Given the description of an element on the screen output the (x, y) to click on. 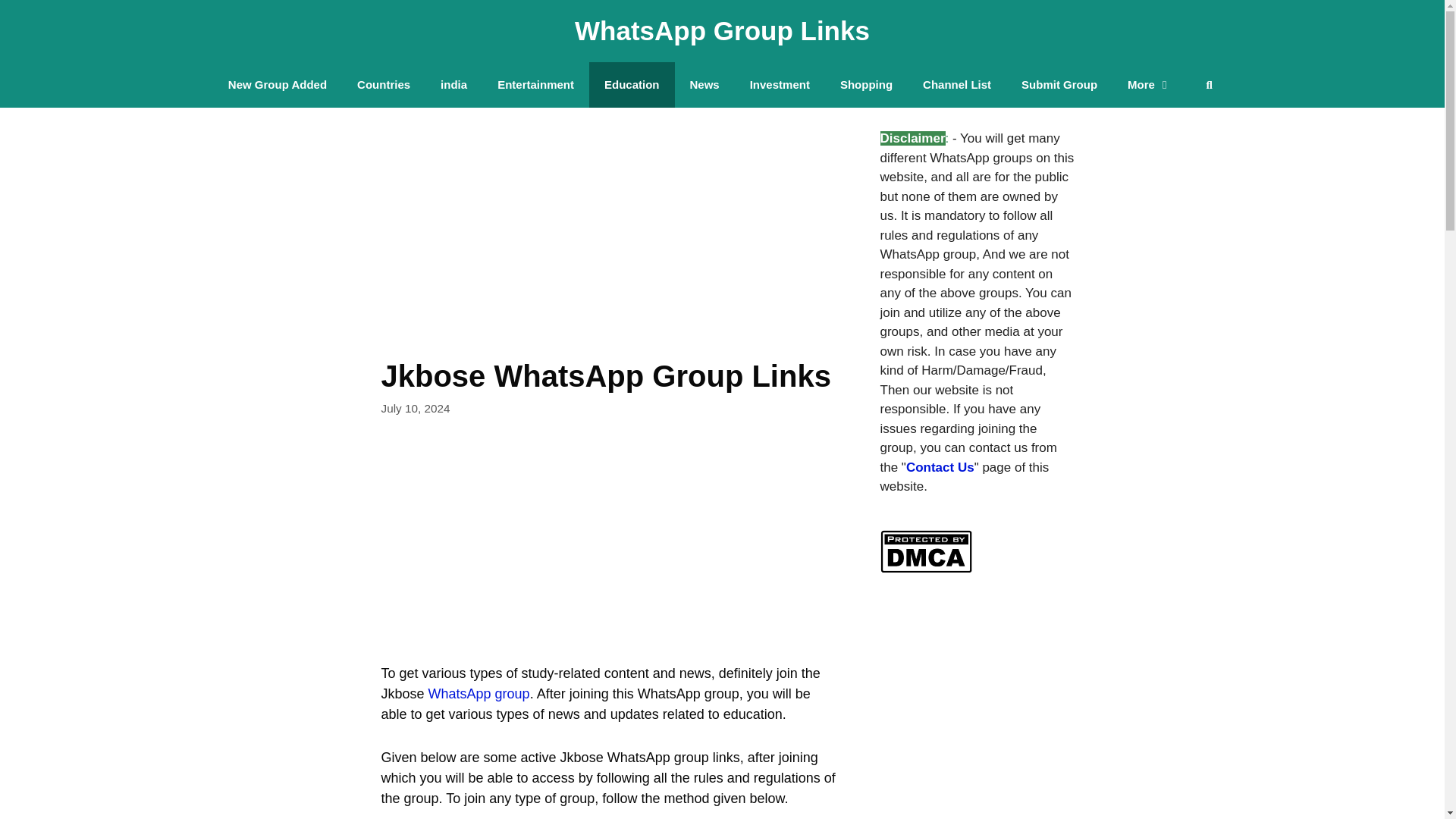
WhatsApp Group Links (722, 30)
DMCA.com Protection Status (925, 568)
New Group Added (277, 84)
Entertainment (535, 84)
Countries (383, 84)
News (705, 84)
More (1149, 84)
india (453, 84)
Investment (780, 84)
Shopping (866, 84)
Submit Group (1059, 84)
Channel List (956, 84)
WhatsApp group (478, 693)
Advertisement (607, 551)
Advertisement (608, 223)
